Given the description of an element on the screen output the (x, y) to click on. 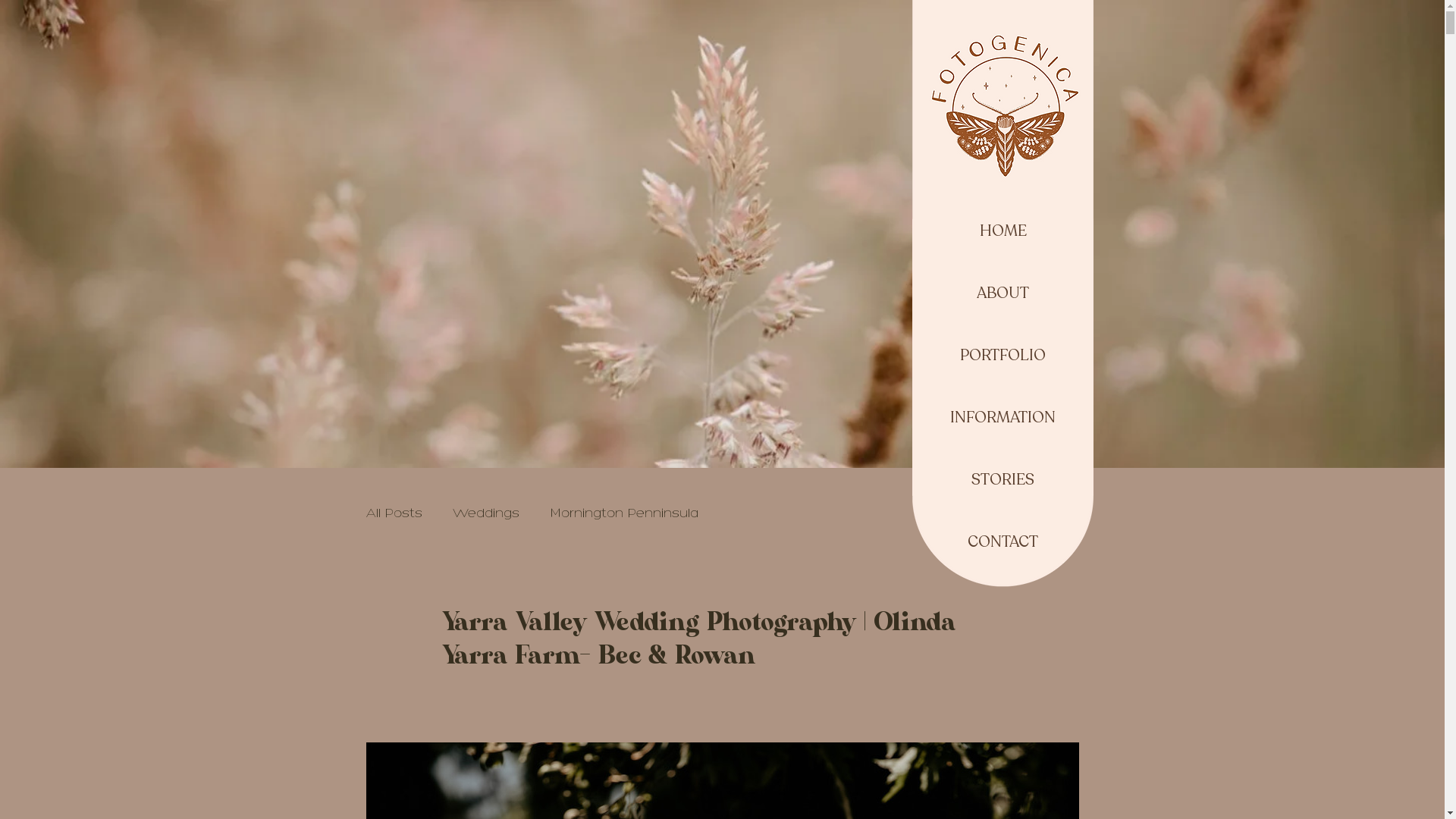
STORIES Element type: text (1002, 479)
CONTACT Element type: text (1002, 542)
HOME Element type: text (1002, 231)
Weddings Element type: text (472, 512)
ABOUT Element type: text (1002, 293)
Mornington Penninsula Element type: text (594, 512)
PORTFOLIO Element type: text (1002, 355)
All Posts Element type: text (390, 512)
